Given the description of an element on the screen output the (x, y) to click on. 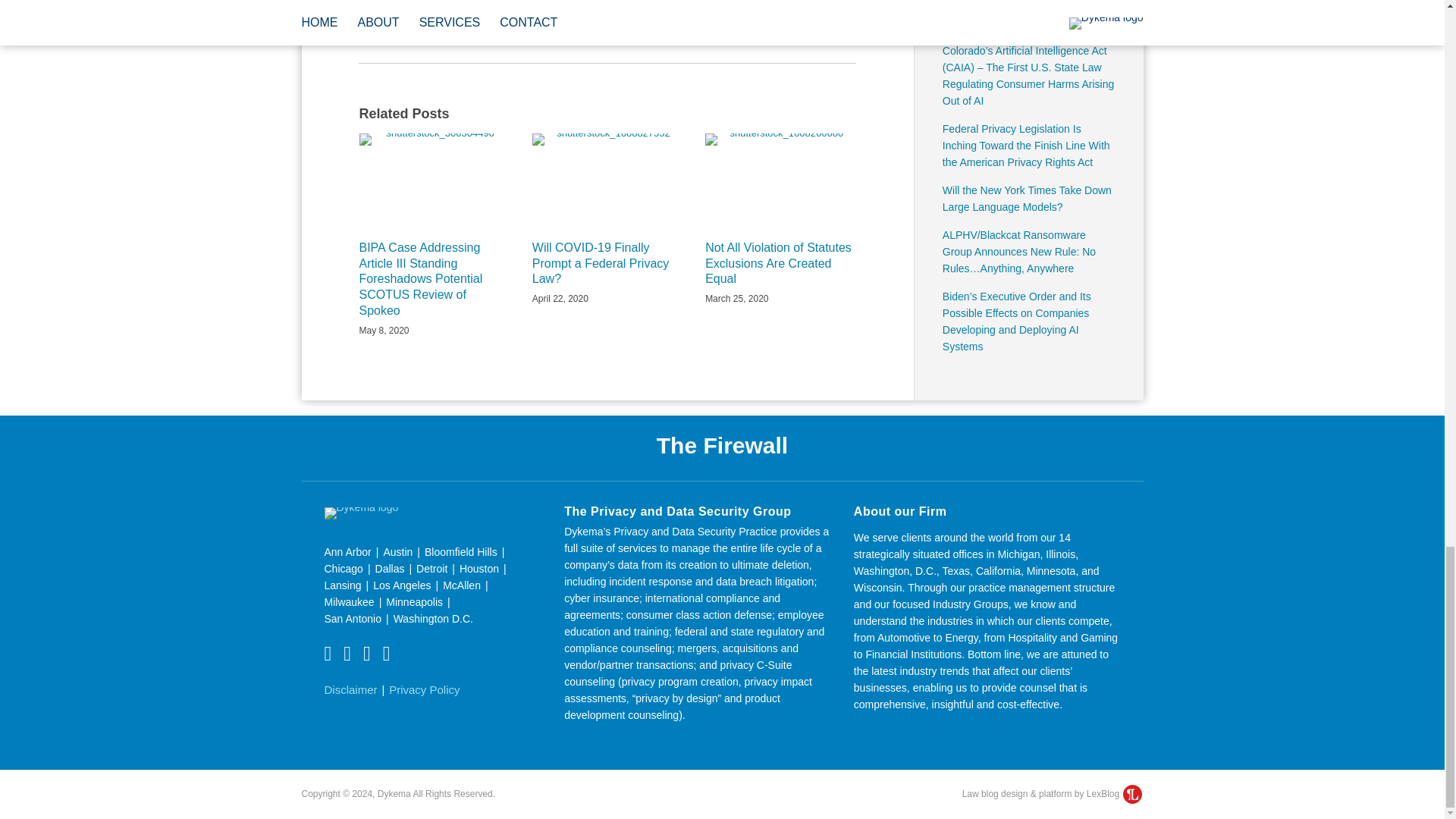
LexBlog Logo (1131, 793)
Not All Violation of Statutes Exclusions Are Created Equal (780, 263)
Will COVID-19 Finally Prompt a Federal Privacy Law? (607, 263)
